Given the description of an element on the screen output the (x, y) to click on. 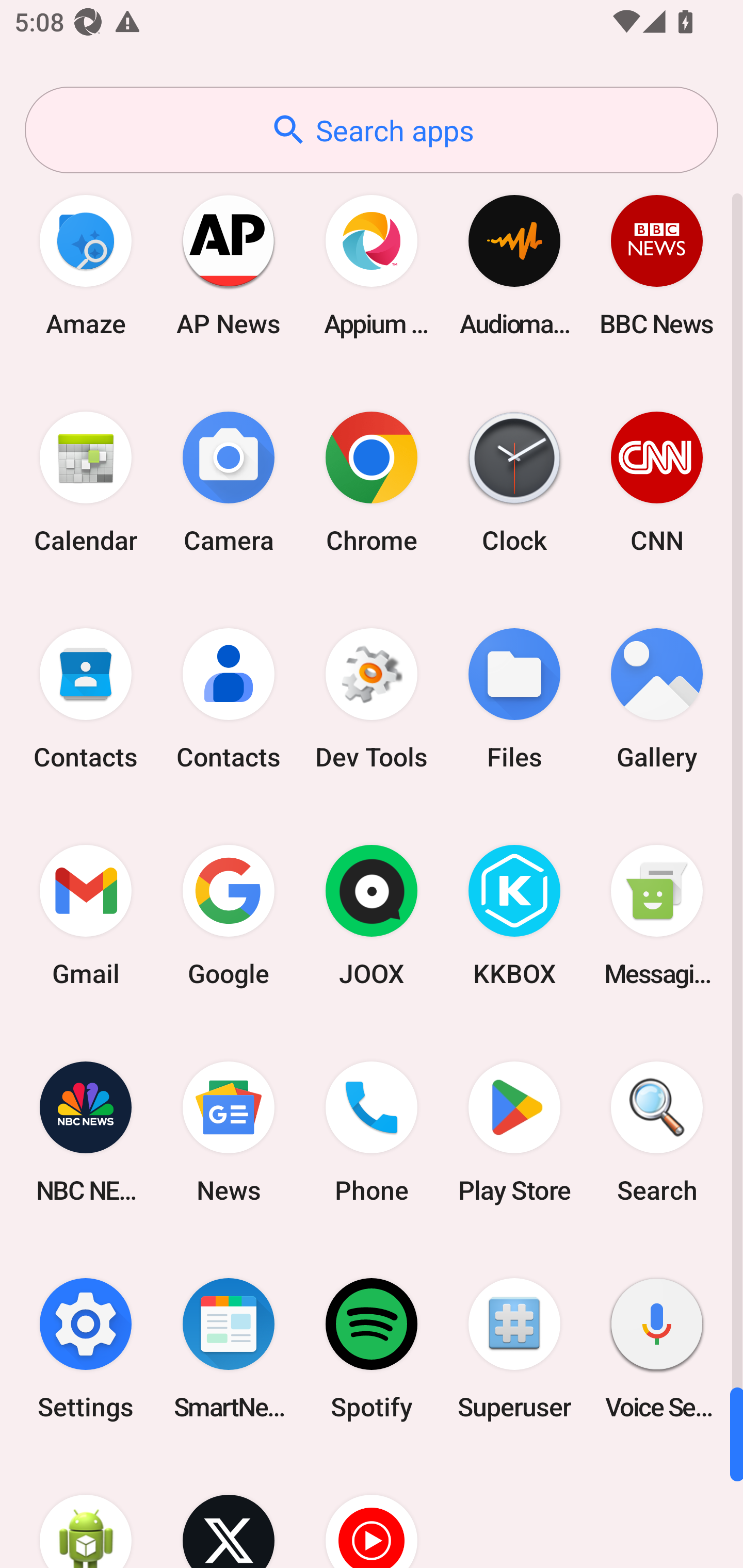
  Search apps (371, 130)
Amaze (85, 264)
AP News (228, 264)
Appium Settings (371, 264)
Audio­mack (514, 264)
BBC News (656, 264)
Calendar (85, 482)
Camera (228, 482)
Chrome (371, 482)
Clock (514, 482)
CNN (656, 482)
Contacts (85, 699)
Contacts (228, 699)
Dev Tools (371, 699)
Files (514, 699)
Gallery (656, 699)
Gmail (85, 915)
Google (228, 915)
JOOX (371, 915)
KKBOX (514, 915)
Messaging (656, 915)
NBC NEWS (85, 1131)
News (228, 1131)
Phone (371, 1131)
Play Store (514, 1131)
Search (656, 1131)
Settings (85, 1348)
SmartNews (228, 1348)
Spotify (371, 1348)
Superuser (514, 1348)
Voice Search (656, 1348)
WebView Browser Tester (85, 1512)
X (228, 1512)
YT Music (371, 1512)
